Given the description of an element on the screen output the (x, y) to click on. 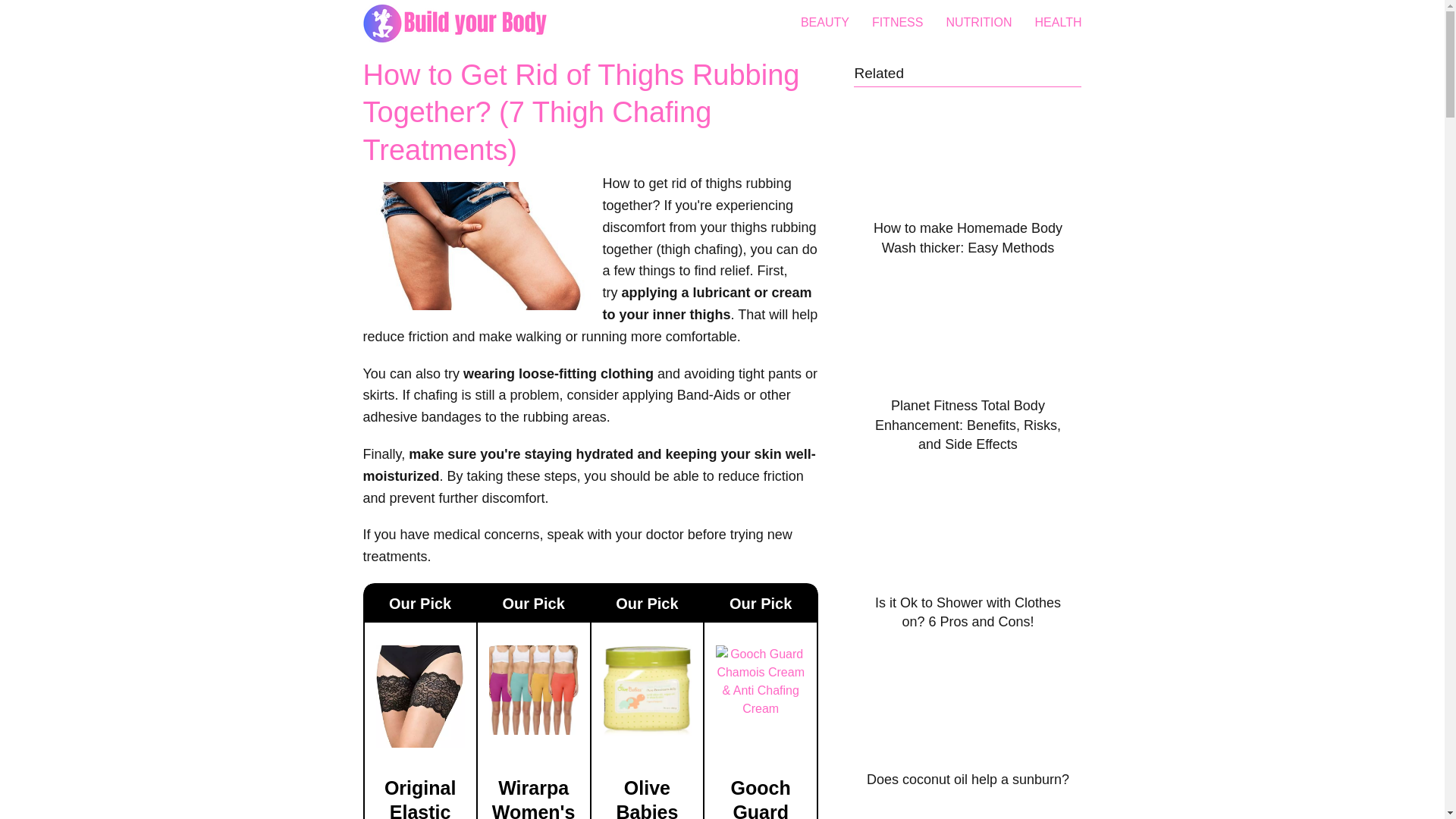
BEAUTY (824, 21)
Olive Babies Skin Protectant Petroleum Jelly (647, 797)
Olive Babies Skin Protectant Petroleum Jelly (647, 797)
Original Elastic Anti-Chafing Thigh Bands (419, 743)
FITNESS (897, 21)
HEALTH (1058, 21)
Olive Babies Skin Protectant Petroleum Jelly (647, 730)
Original Elastic Anti-Chafing Thigh Bands (419, 797)
NUTRITION (977, 21)
Original Elastic Anti-Chafing Thigh Bands (419, 797)
